Given the description of an element on the screen output the (x, y) to click on. 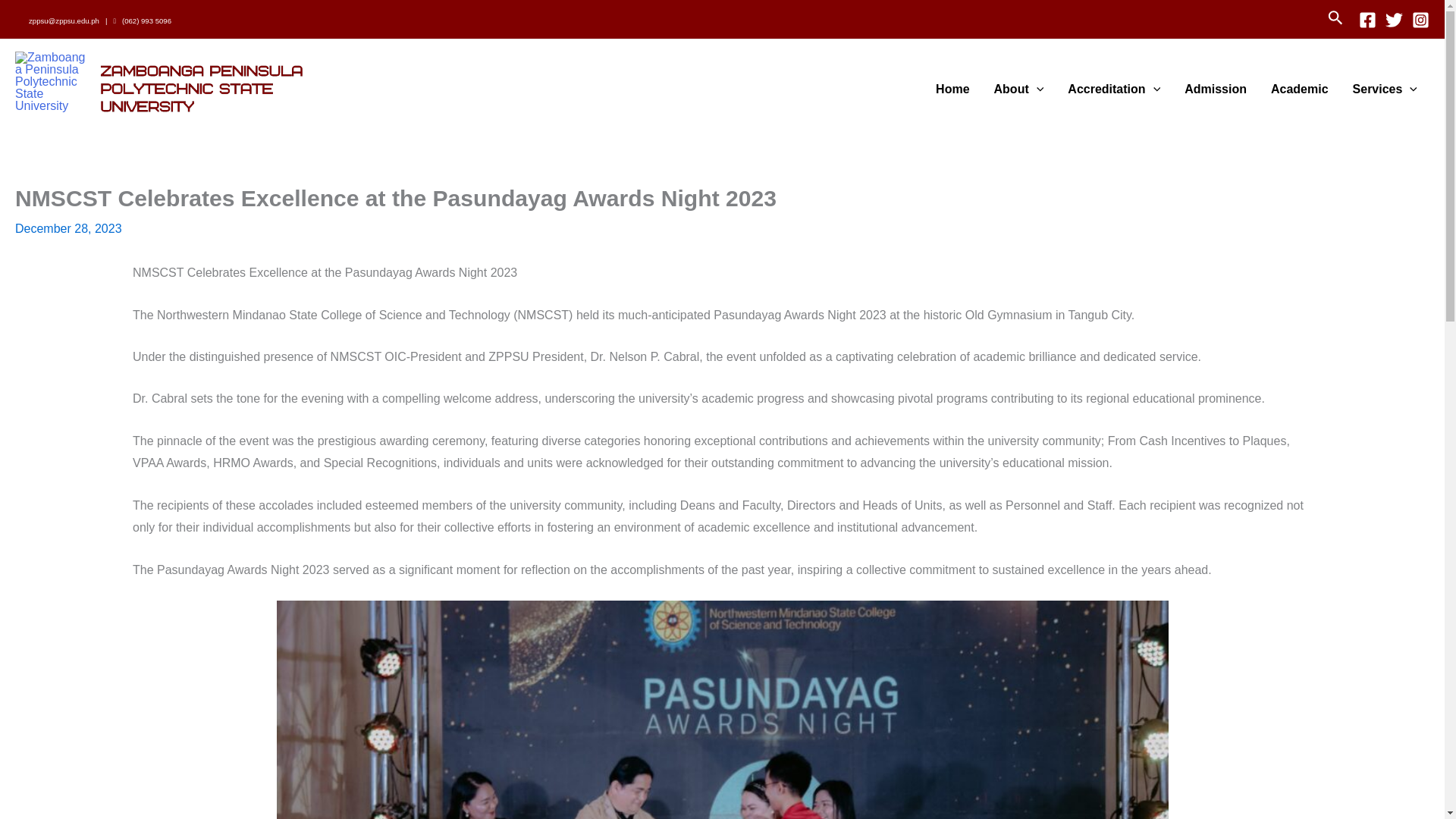
Services (1384, 88)
Home (952, 88)
Admission (1215, 88)
Accreditation (1113, 88)
Academic (1299, 88)
About (1019, 88)
